Given the description of an element on the screen output the (x, y) to click on. 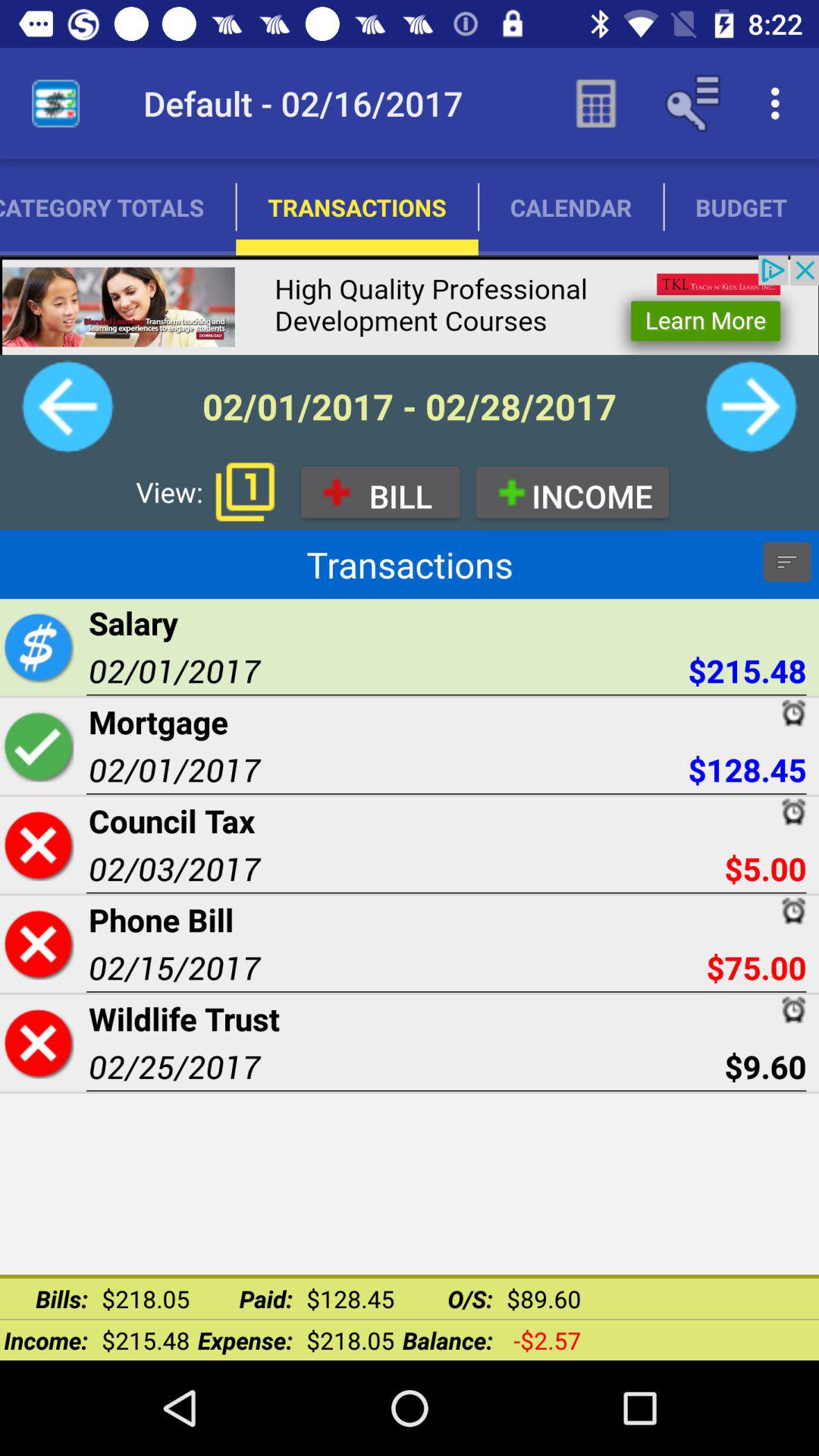
view notification (244, 491)
